Given the description of an element on the screen output the (x, y) to click on. 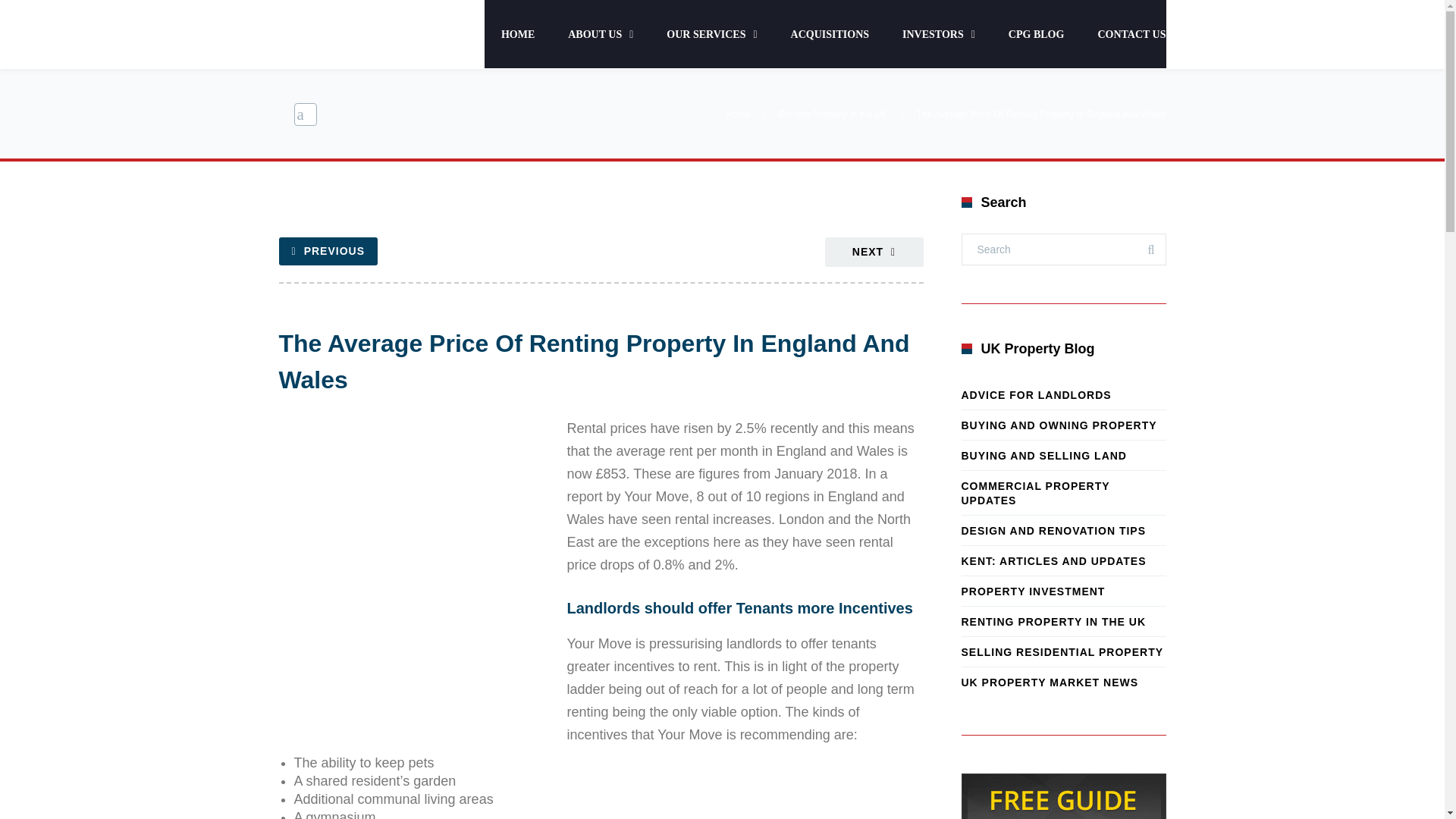
Home (737, 113)
The Average Price Of Renting Property In England And Wales (594, 361)
ADVICE FOR LANDLORDS (1063, 394)
BUYING AND SELLING LAND (1063, 455)
OUR SERVICES (711, 33)
ABOUT US (600, 33)
Land Agent and Property Development Company (346, 37)
ACQUISITIONS (829, 33)
NEXT (874, 251)
PREVIOUS (328, 251)
